Given the description of an element on the screen output the (x, y) to click on. 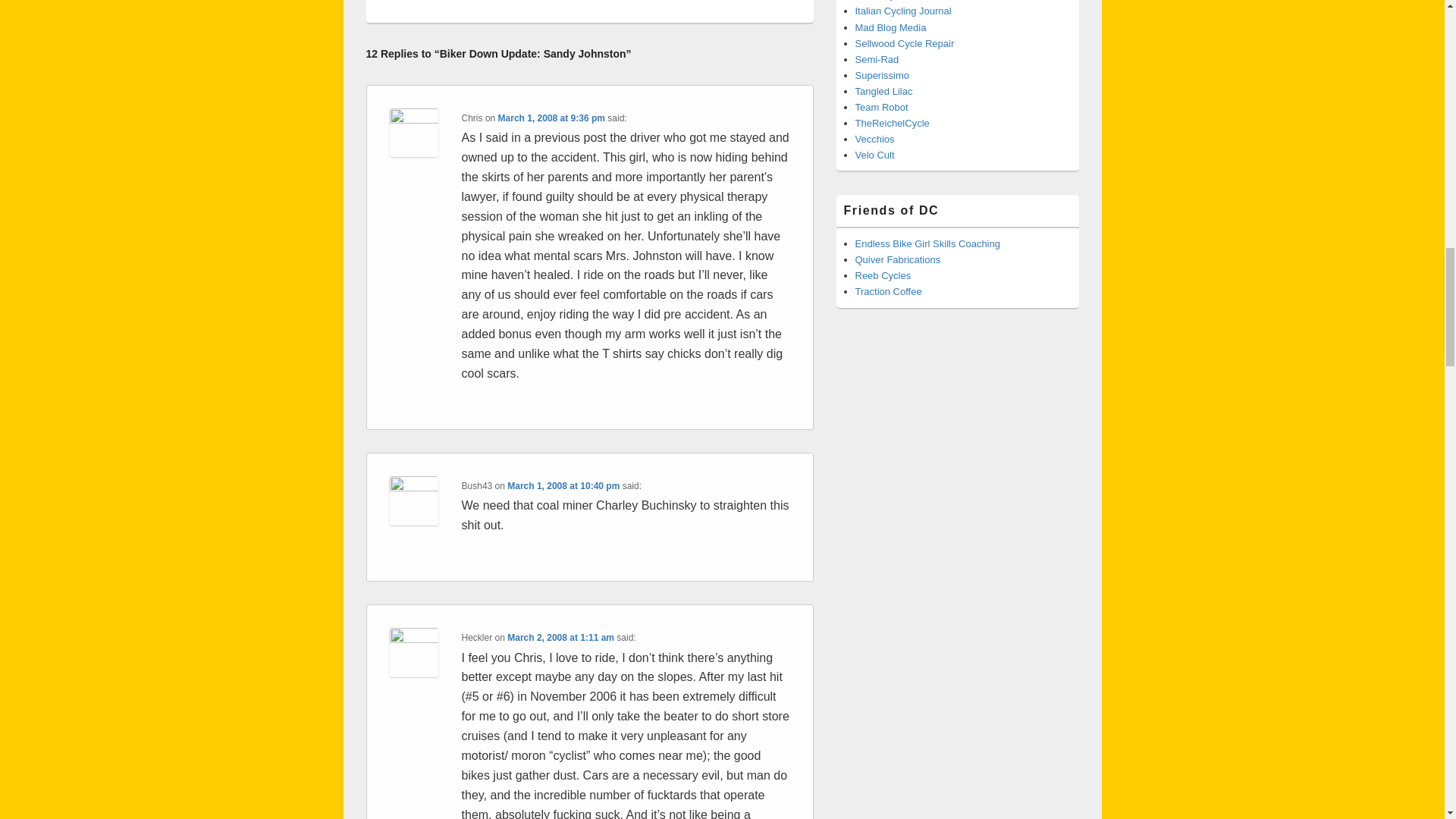
March 1, 2008 at 9:36 pm (551, 118)
March 1, 2008 at 10:40 pm (563, 485)
March 2, 2008 at 1:11 am (560, 637)
